Given the description of an element on the screen output the (x, y) to click on. 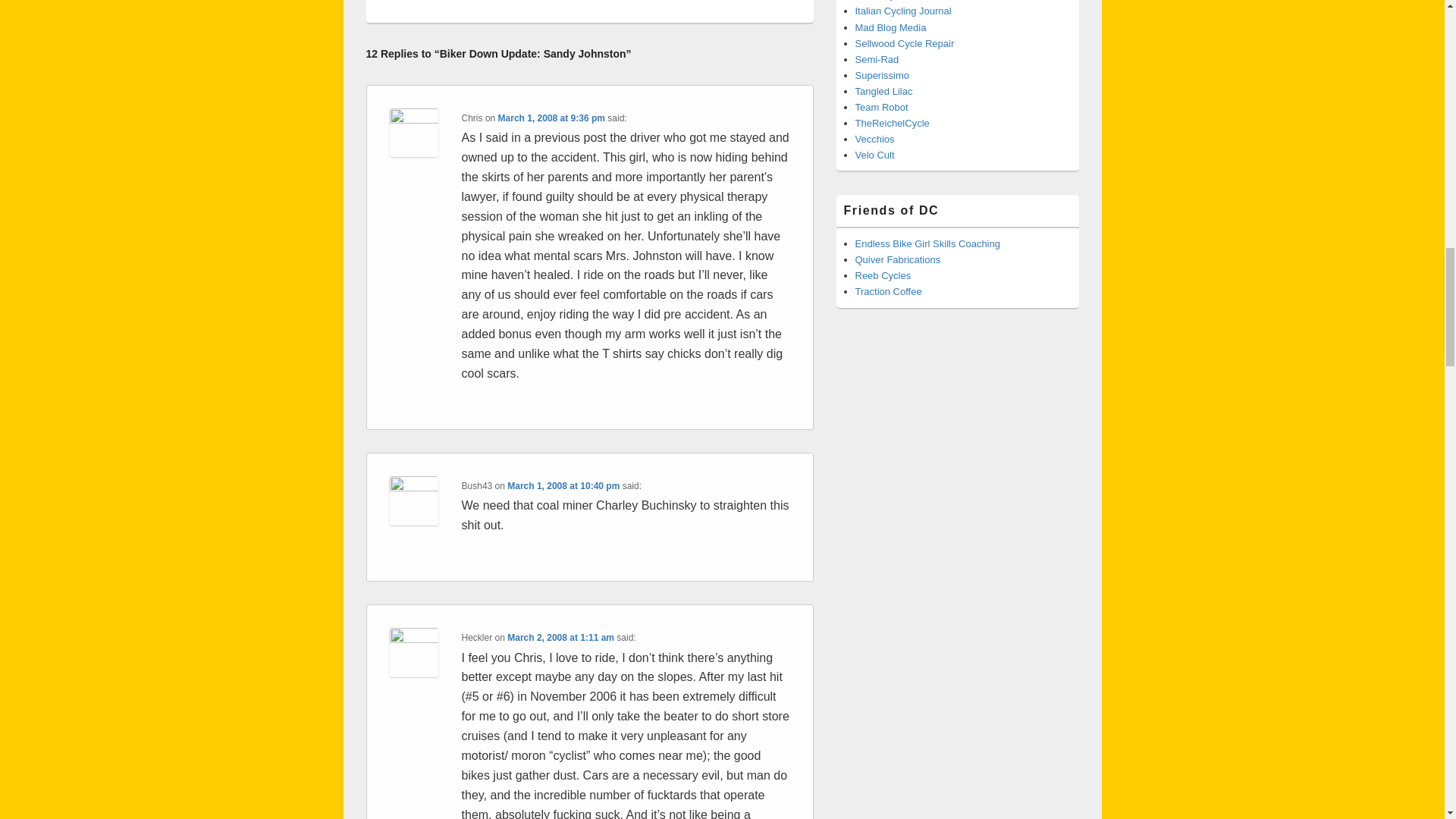
March 1, 2008 at 9:36 pm (551, 118)
March 1, 2008 at 10:40 pm (563, 485)
March 2, 2008 at 1:11 am (560, 637)
